Given the description of an element on the screen output the (x, y) to click on. 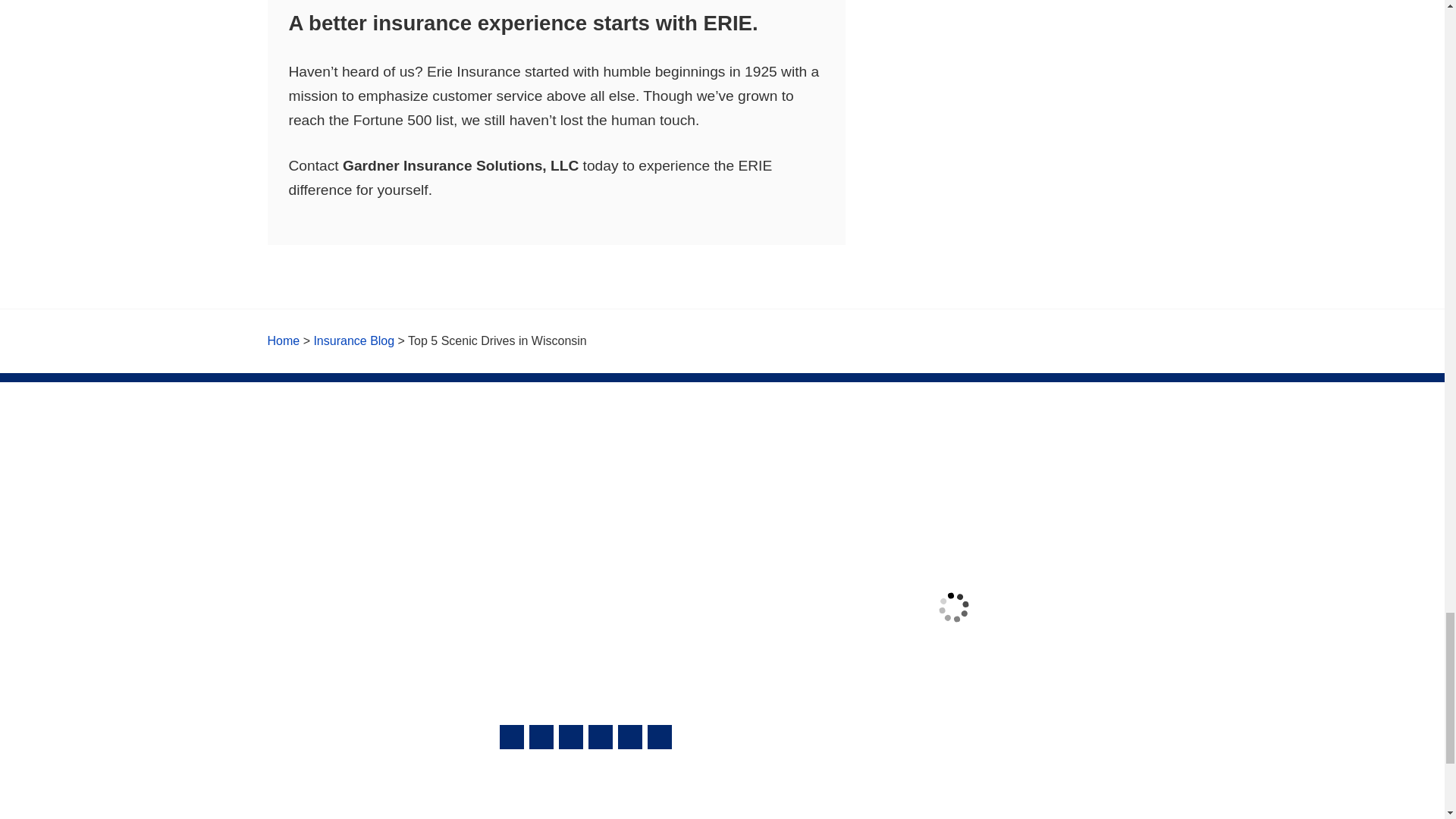
Facebook (571, 736)
Yelp (541, 736)
Instagram (659, 736)
X (600, 736)
Google Maps (511, 736)
LinkedIn (629, 736)
